Given the description of an element on the screen output the (x, y) to click on. 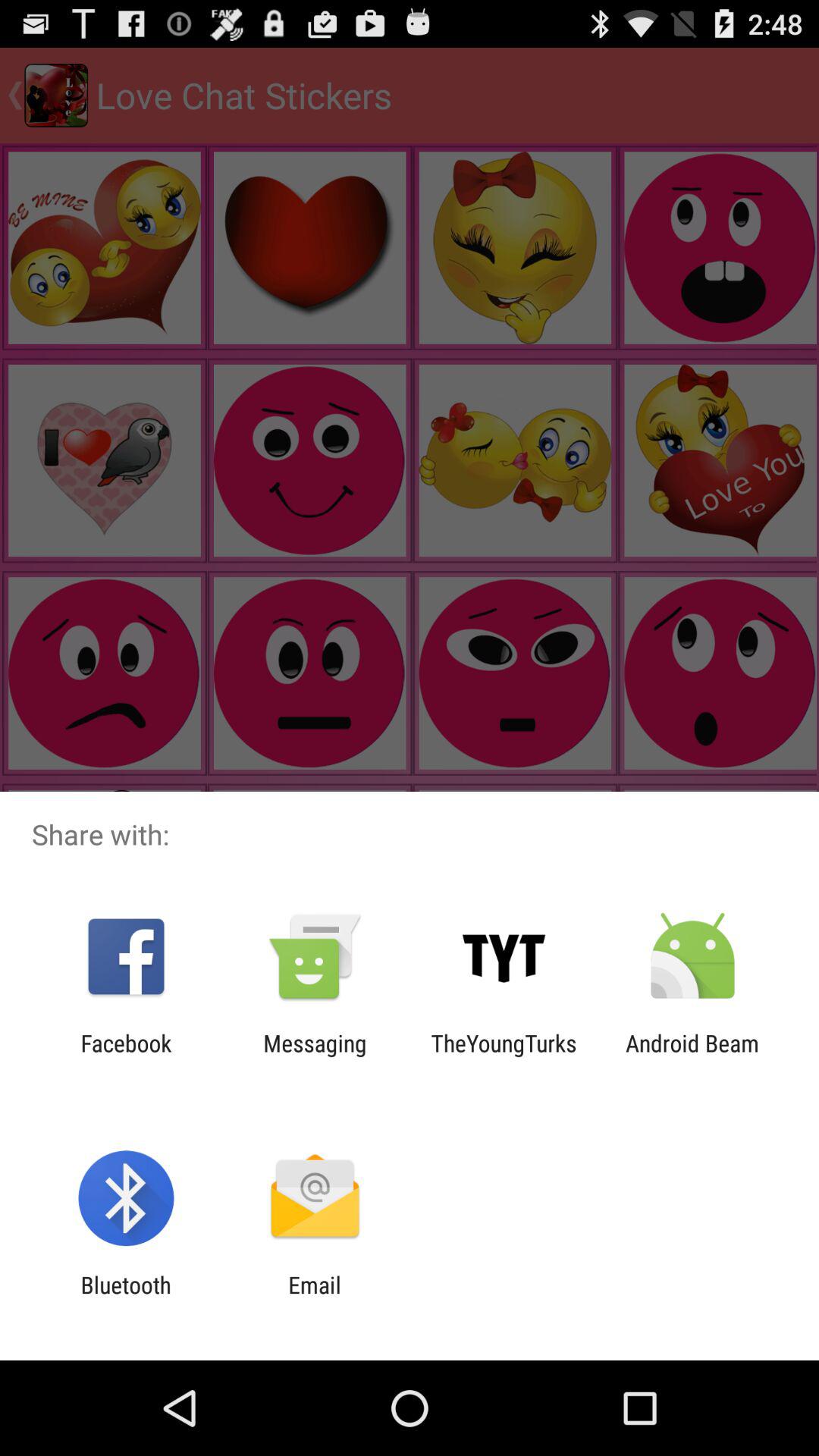
scroll until the messaging app (314, 1056)
